Given the description of an element on the screen output the (x, y) to click on. 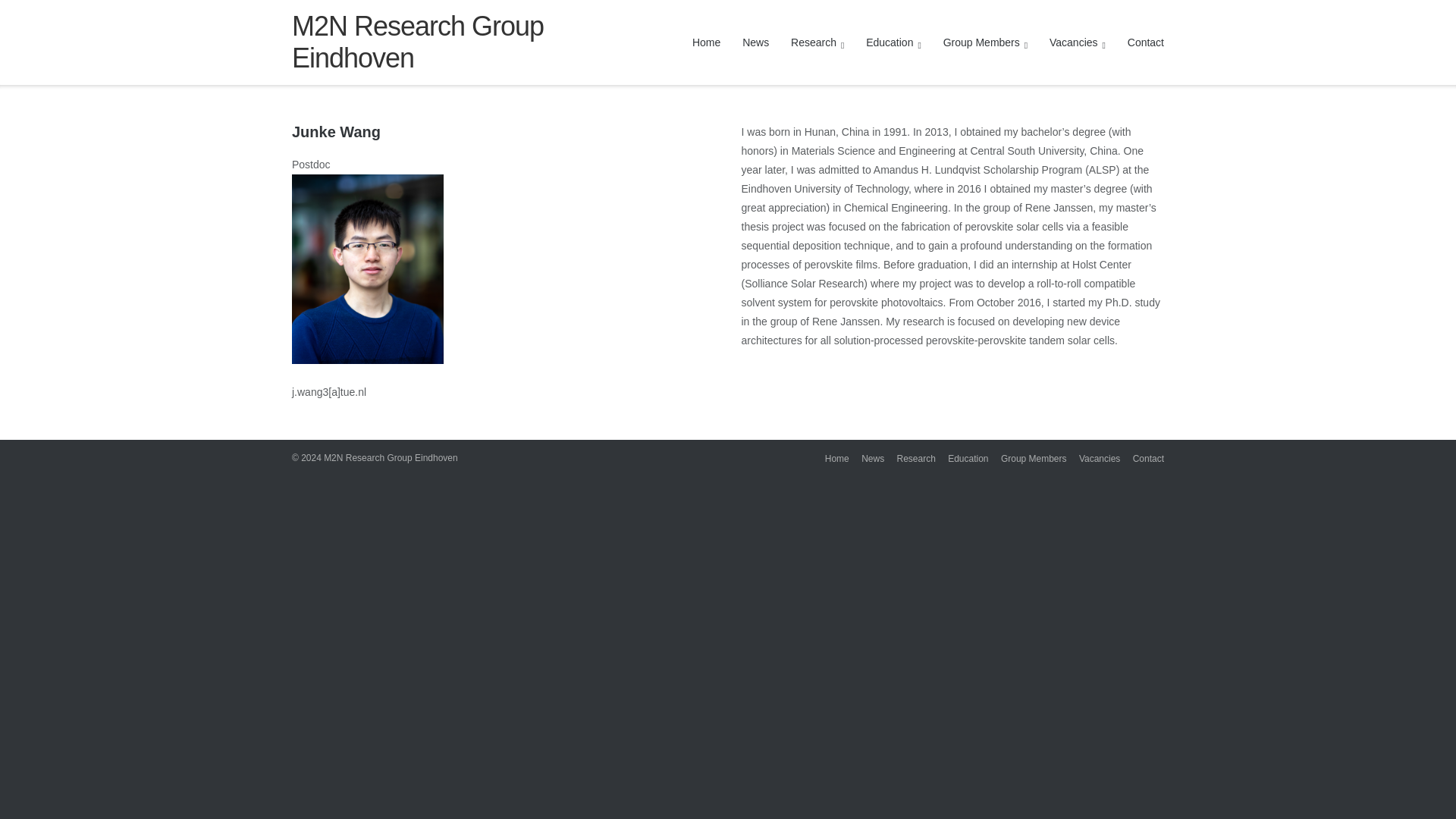
Group Members (985, 42)
M2N Research Group Eindhoven (435, 42)
